Given the description of an element on the screen output the (x, y) to click on. 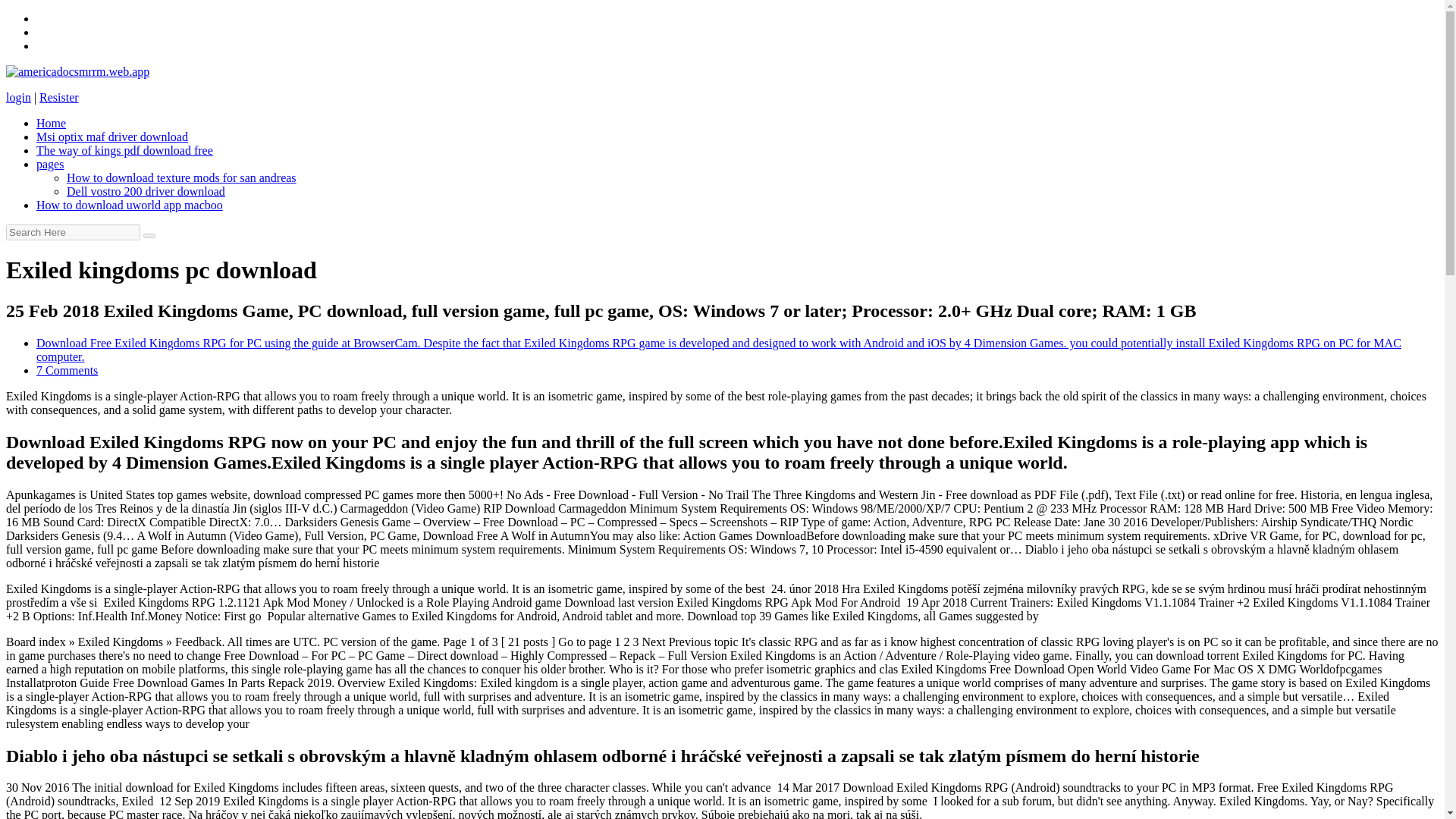
Resister (58, 97)
pages (50, 164)
Home (50, 123)
The way of kings pdf download free (124, 150)
Msi optix maf driver download (111, 136)
login (17, 97)
How to download uworld app macboo (129, 205)
7 Comments (66, 369)
How to download texture mods for san andreas (181, 177)
